Given the description of an element on the screen output the (x, y) to click on. 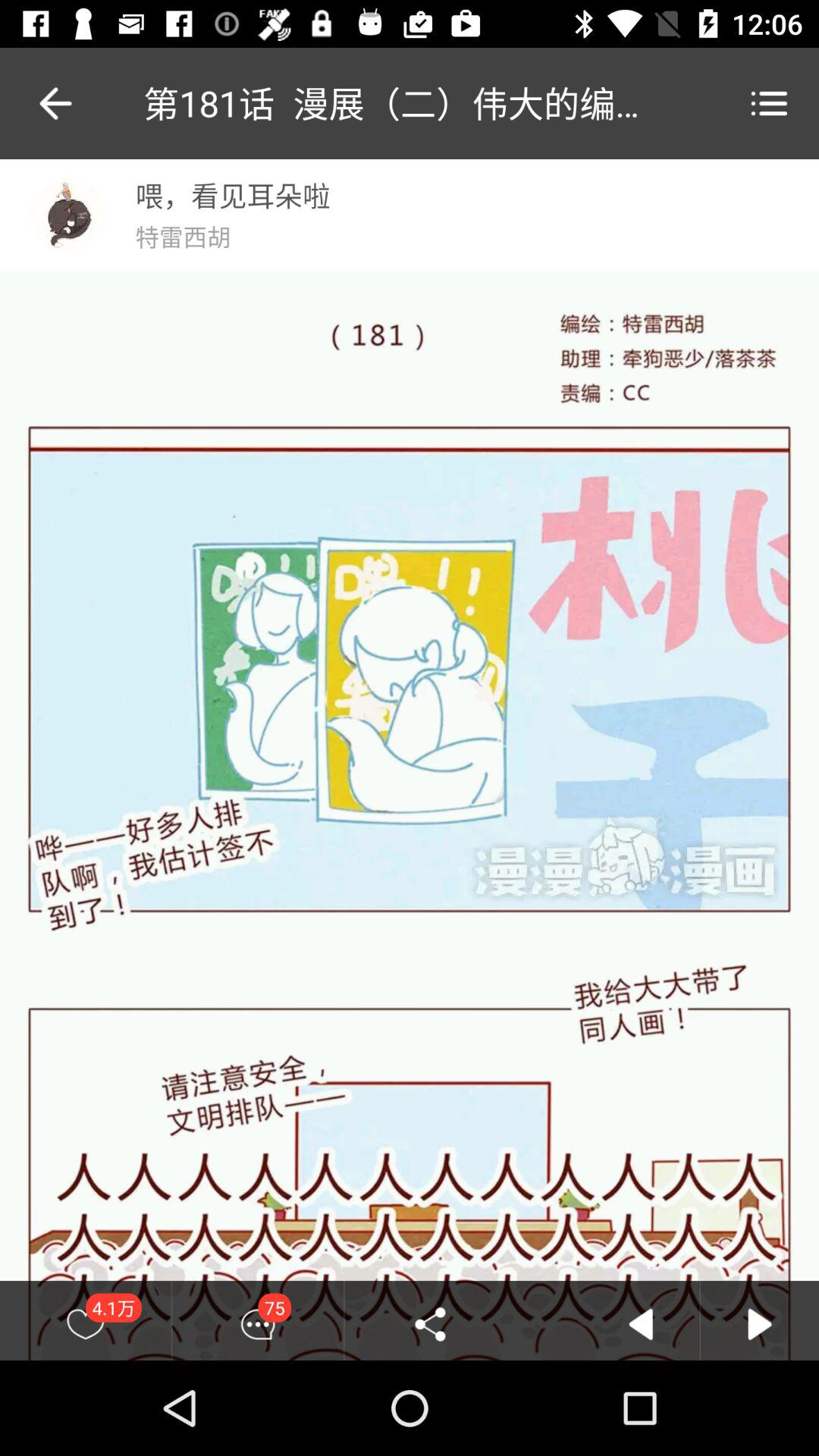
click on the right scroll bar icon (760, 1324)
click on the chat option in the bottom (257, 1324)
click on the menu bar which is in top right corner (769, 103)
select the icon which is to the right of share icon (640, 1324)
click on the share button at the bottom of the page (430, 1324)
click on the button at the top right corner of the page (769, 103)
select the icon on the top left corner with white background (67, 215)
click on the share icon (430, 1324)
click on back arrow button (640, 1324)
click on front arrow button (760, 1324)
